Given the description of an element on the screen output the (x, y) to click on. 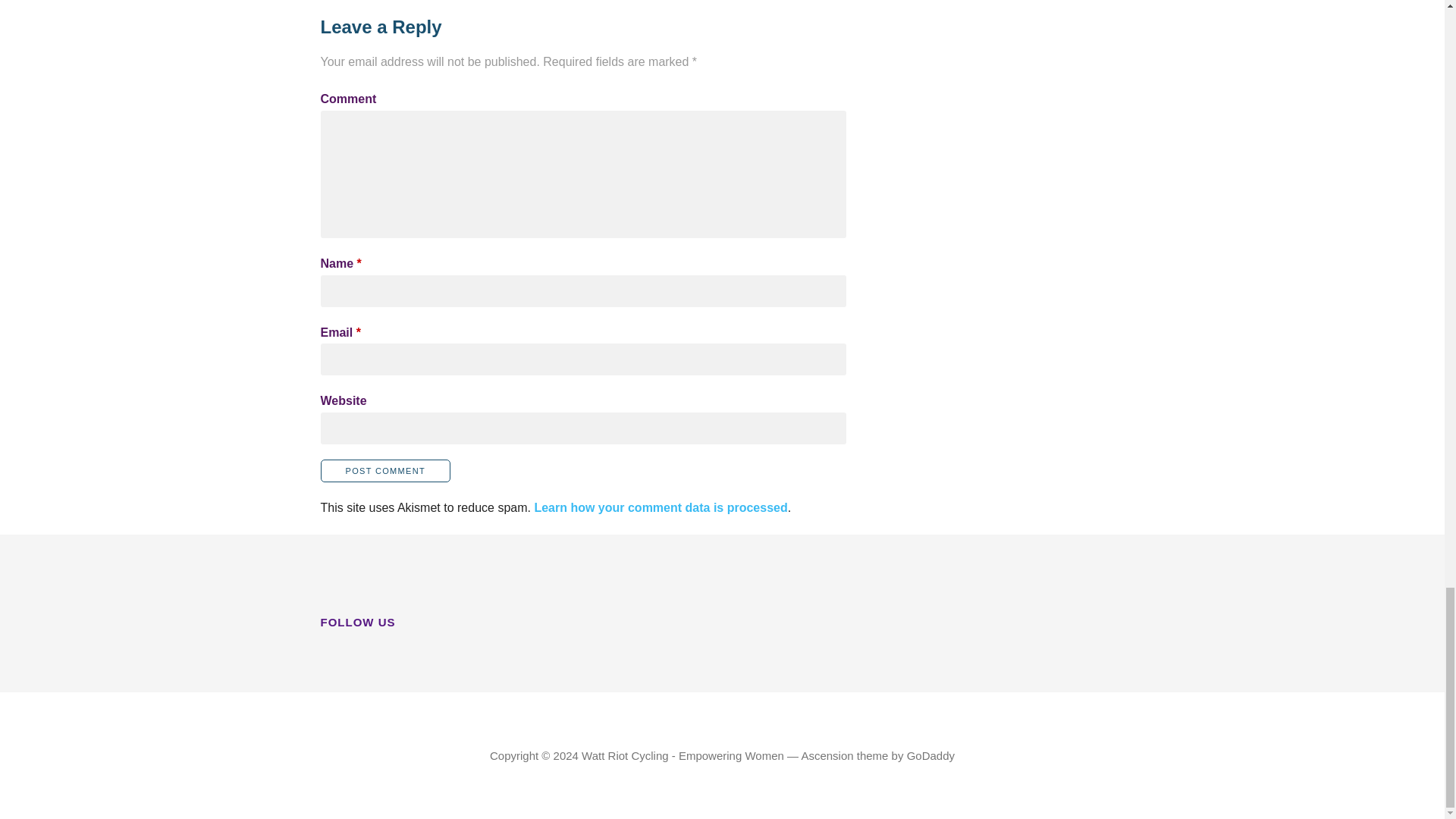
Post Comment (384, 470)
Learn how your comment data is processed (660, 507)
Post Comment (384, 470)
